Given the description of an element on the screen output the (x, y) to click on. 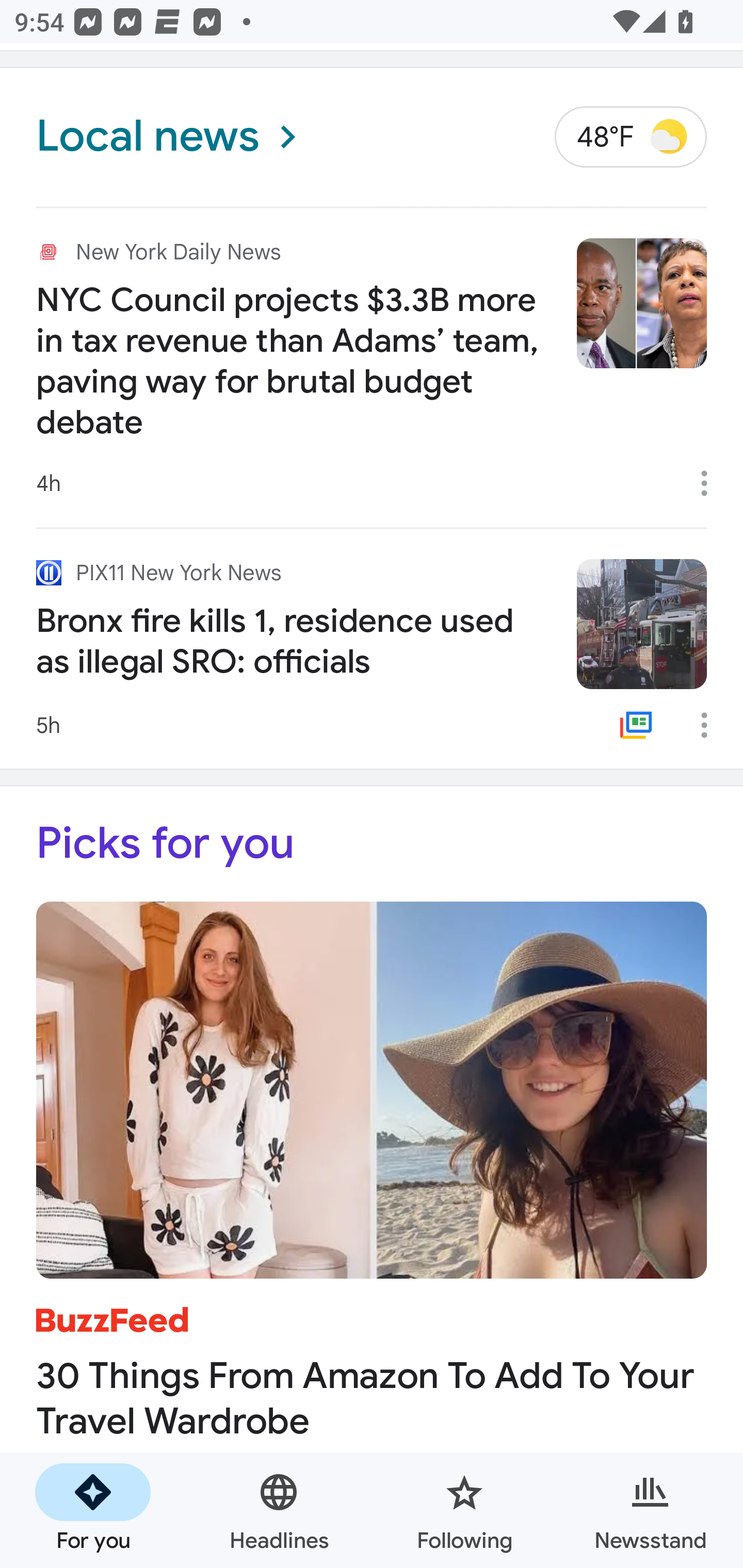
More options (711, 483)
More options (711, 725)
For you (92, 1509)
Headlines (278, 1509)
Following (464, 1509)
Newsstand (650, 1509)
